Given the description of an element on the screen output the (x, y) to click on. 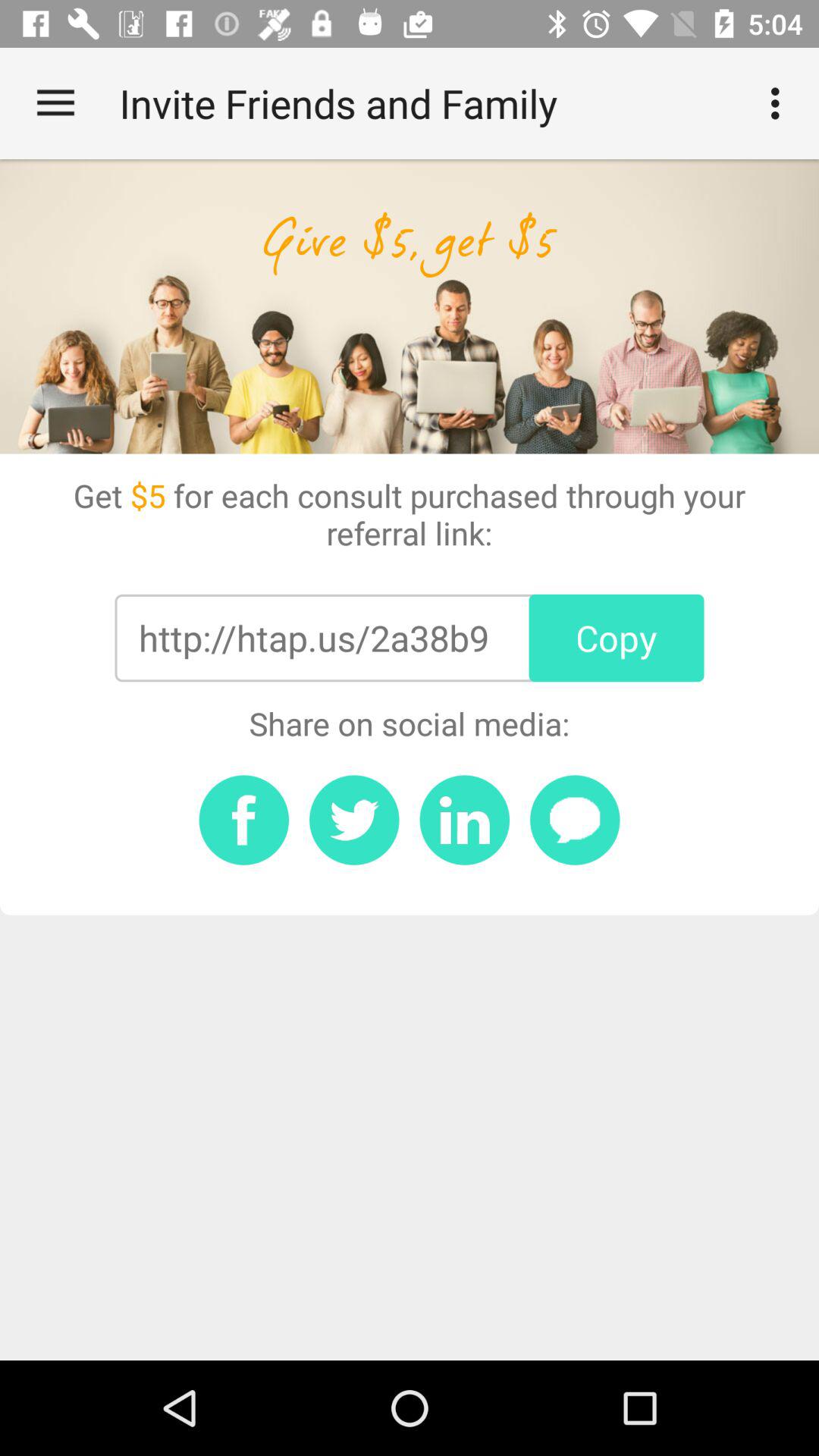
choose item below get 5 for item (313, 637)
